Given the description of an element on the screen output the (x, y) to click on. 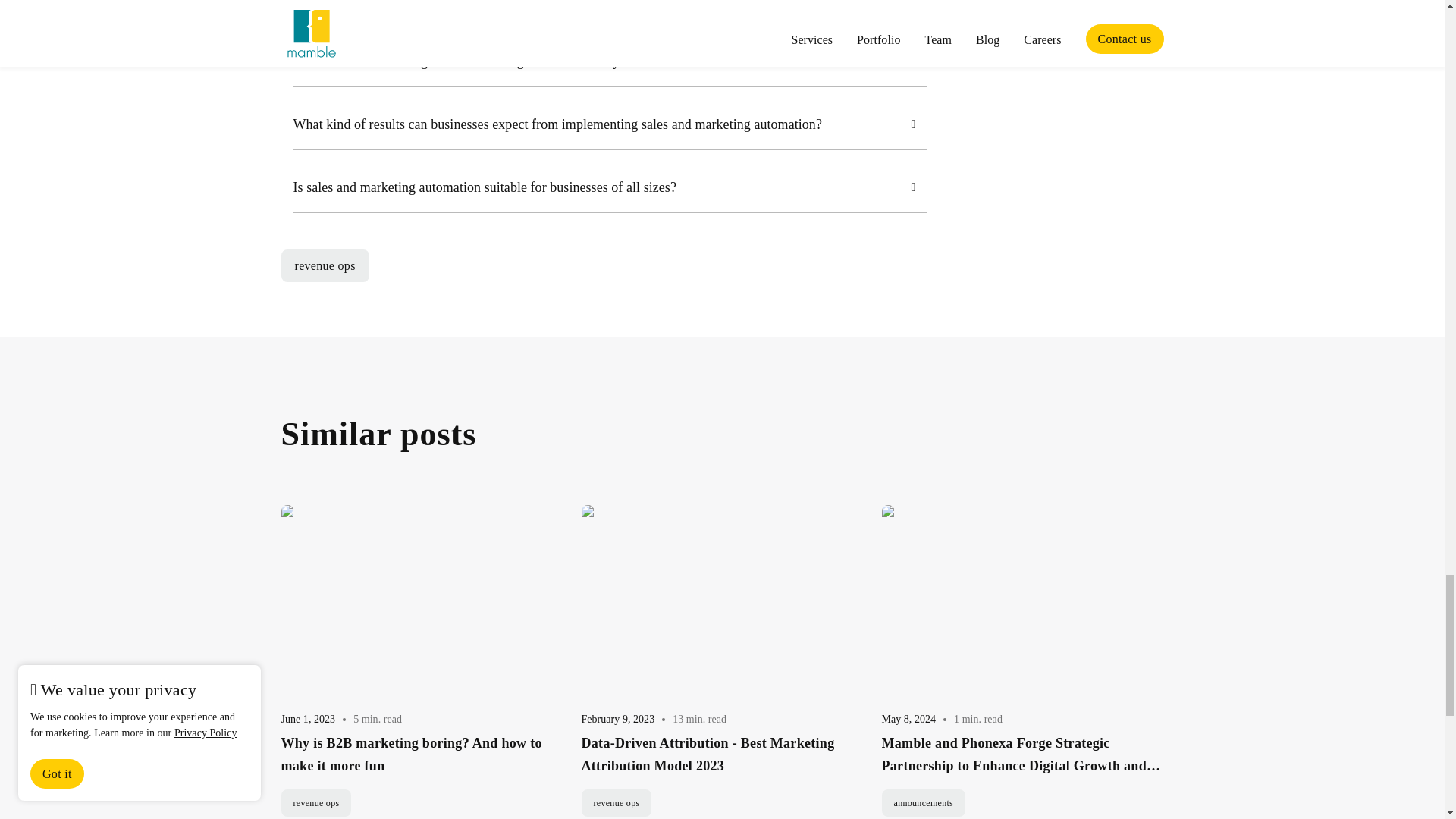
announcements (922, 802)
revenue ops (615, 802)
revenue ops (315, 802)
revenue ops (324, 265)
